Given the description of an element on the screen output the (x, y) to click on. 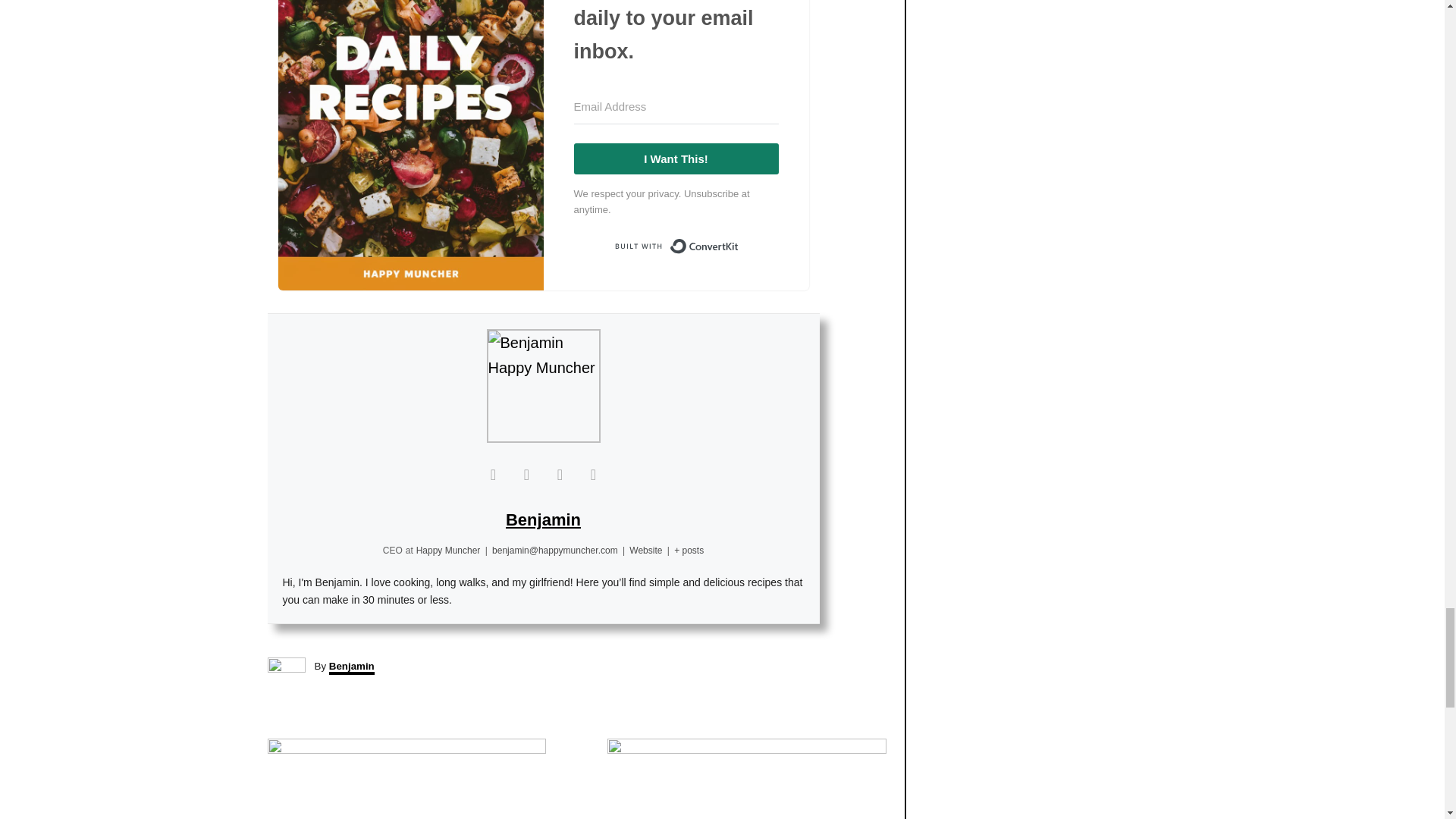
Built with ConvertKit (675, 246)
I Want This! (675, 158)
Benjamin (542, 519)
Happy Muncher (448, 550)
